Given the description of an element on the screen output the (x, y) to click on. 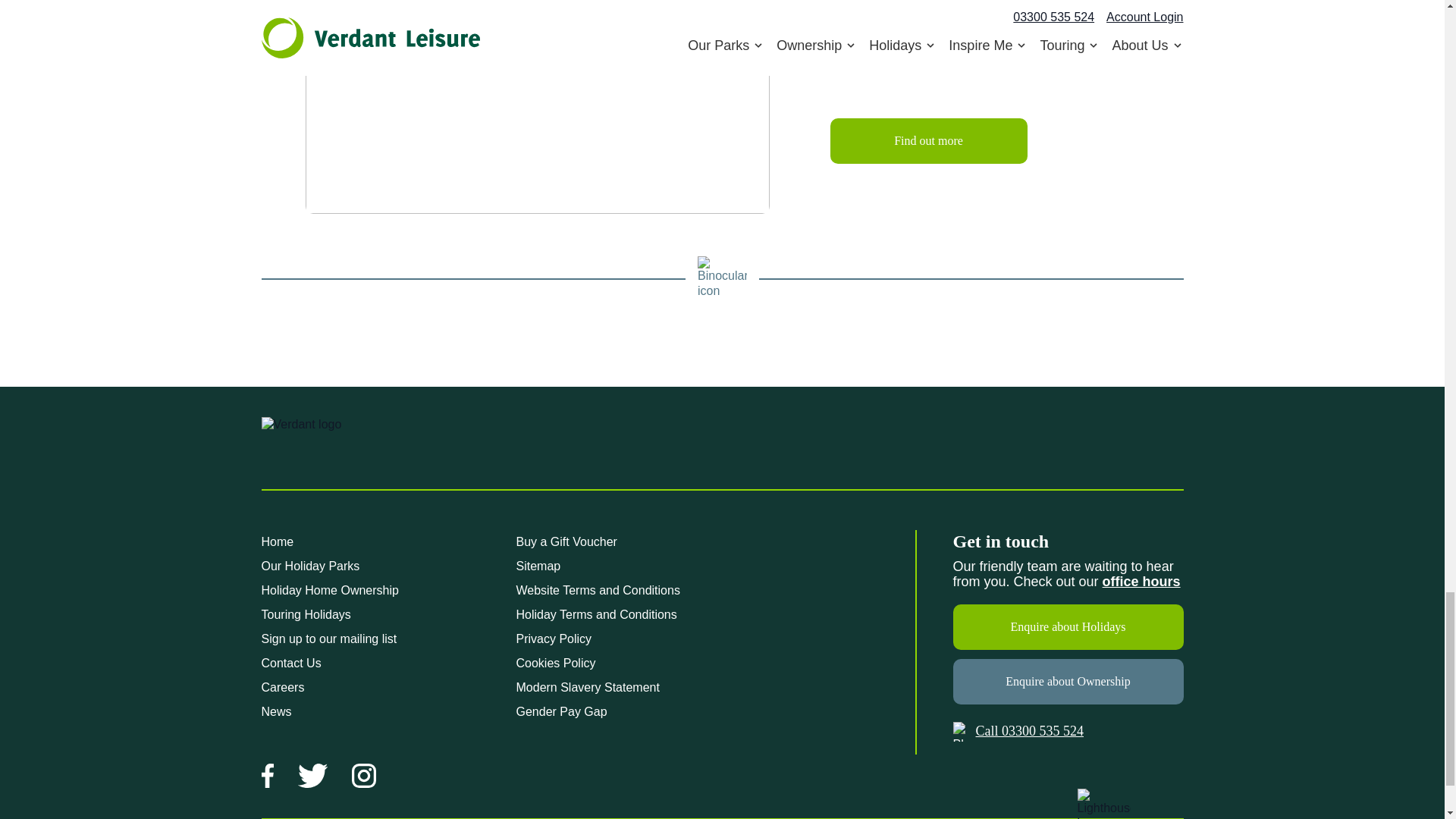
Contact Us (1141, 581)
